Given the description of an element on the screen output the (x, y) to click on. 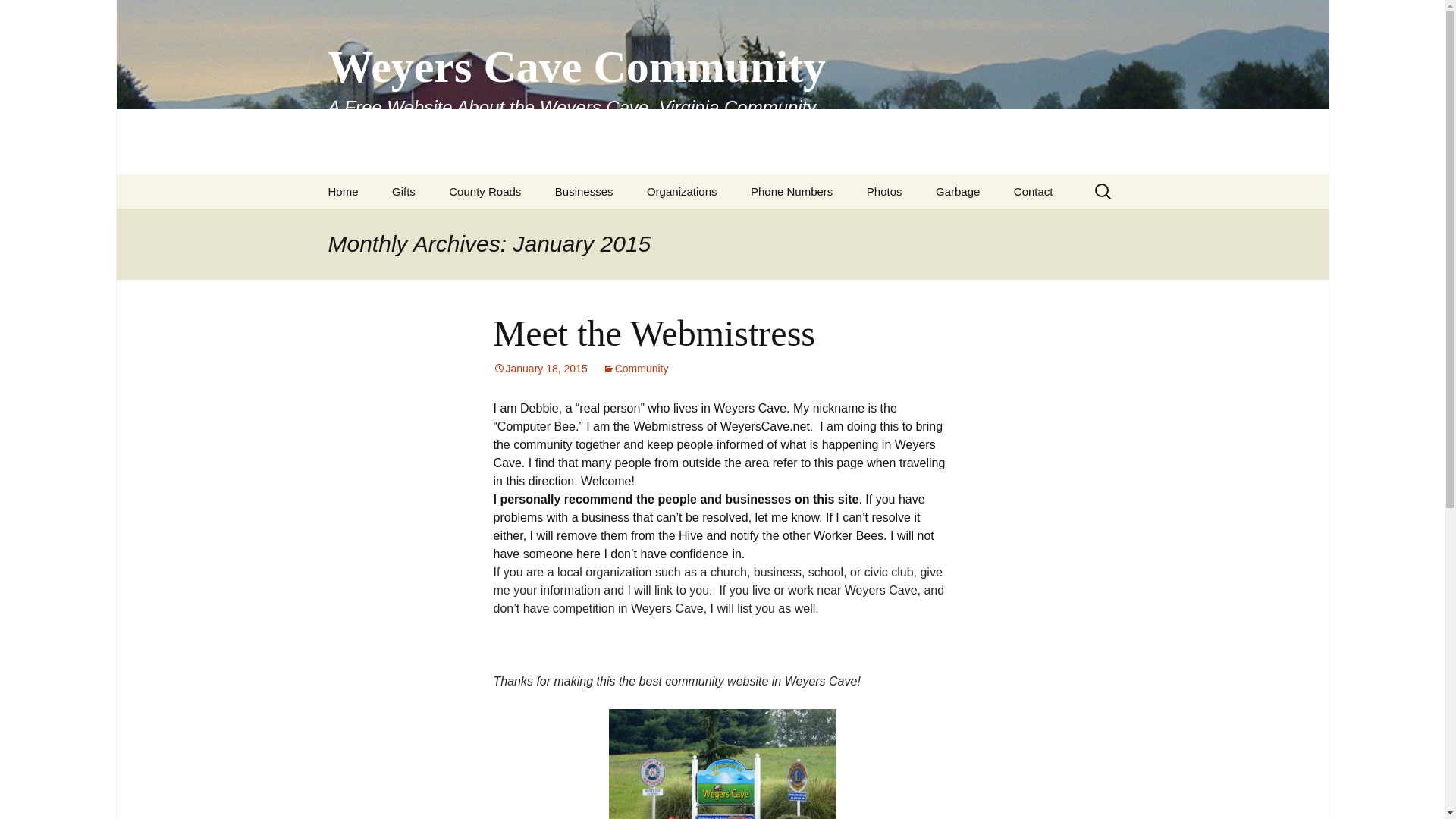
Organizations (681, 191)
Search (34, 15)
Contact (1033, 191)
Permalink to Meet the Webmistress (539, 368)
Search (18, 15)
Meet the Webmistress (654, 332)
Gifts (403, 191)
Phone Numbers (791, 191)
